Given the description of an element on the screen output the (x, y) to click on. 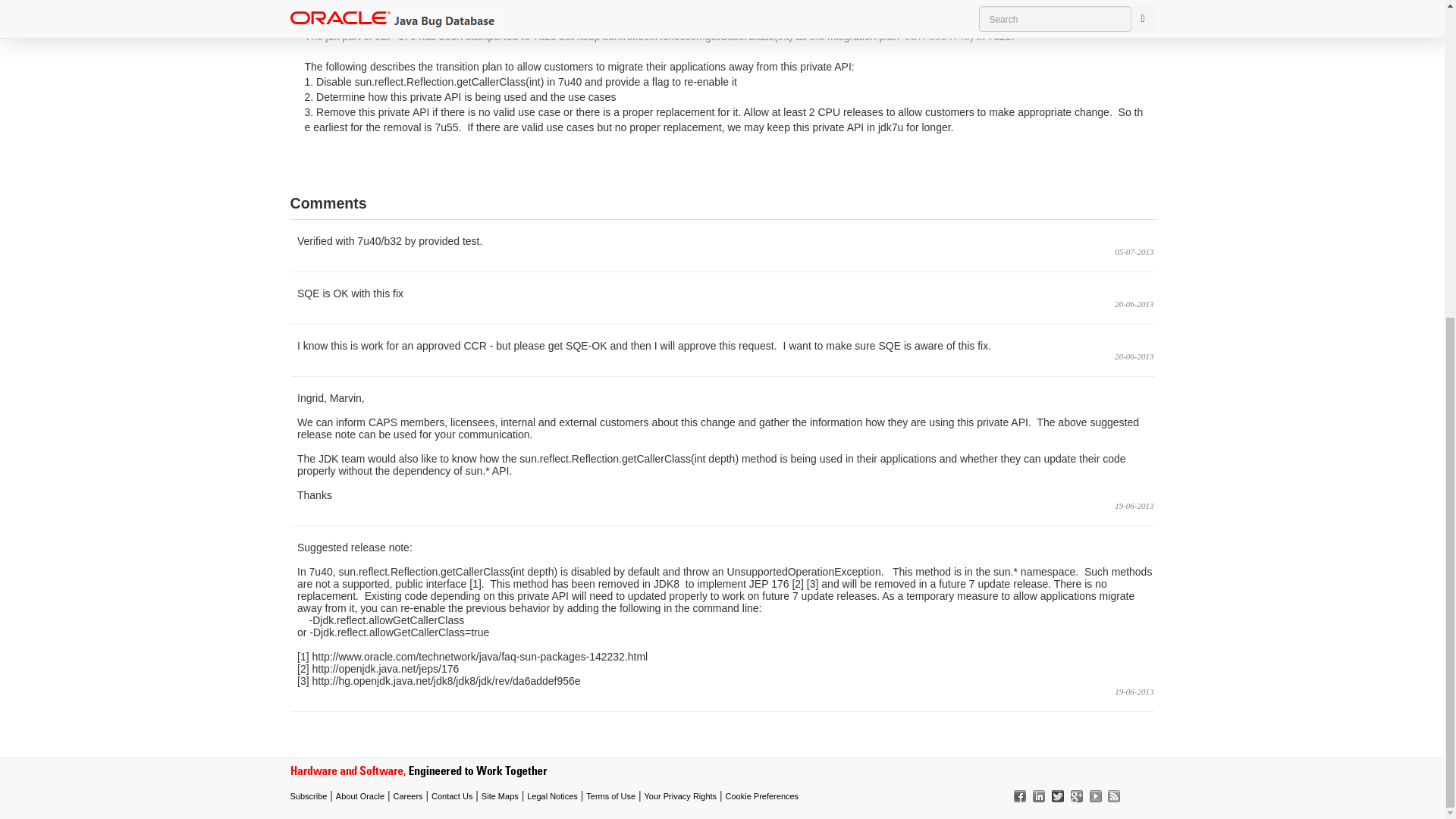
Cookie Preferences (762, 795)
 JDK-8014745 (936, 36)
Contact Us (450, 795)
Careers (407, 795)
Terms of Use (610, 795)
Site Maps (499, 795)
About Oracle (360, 795)
Oracle on Facebook (1018, 795)
Subscribe (307, 795)
Legal Notices (552, 795)
Your Privacy Rights (681, 795)
